Given the description of an element on the screen output the (x, y) to click on. 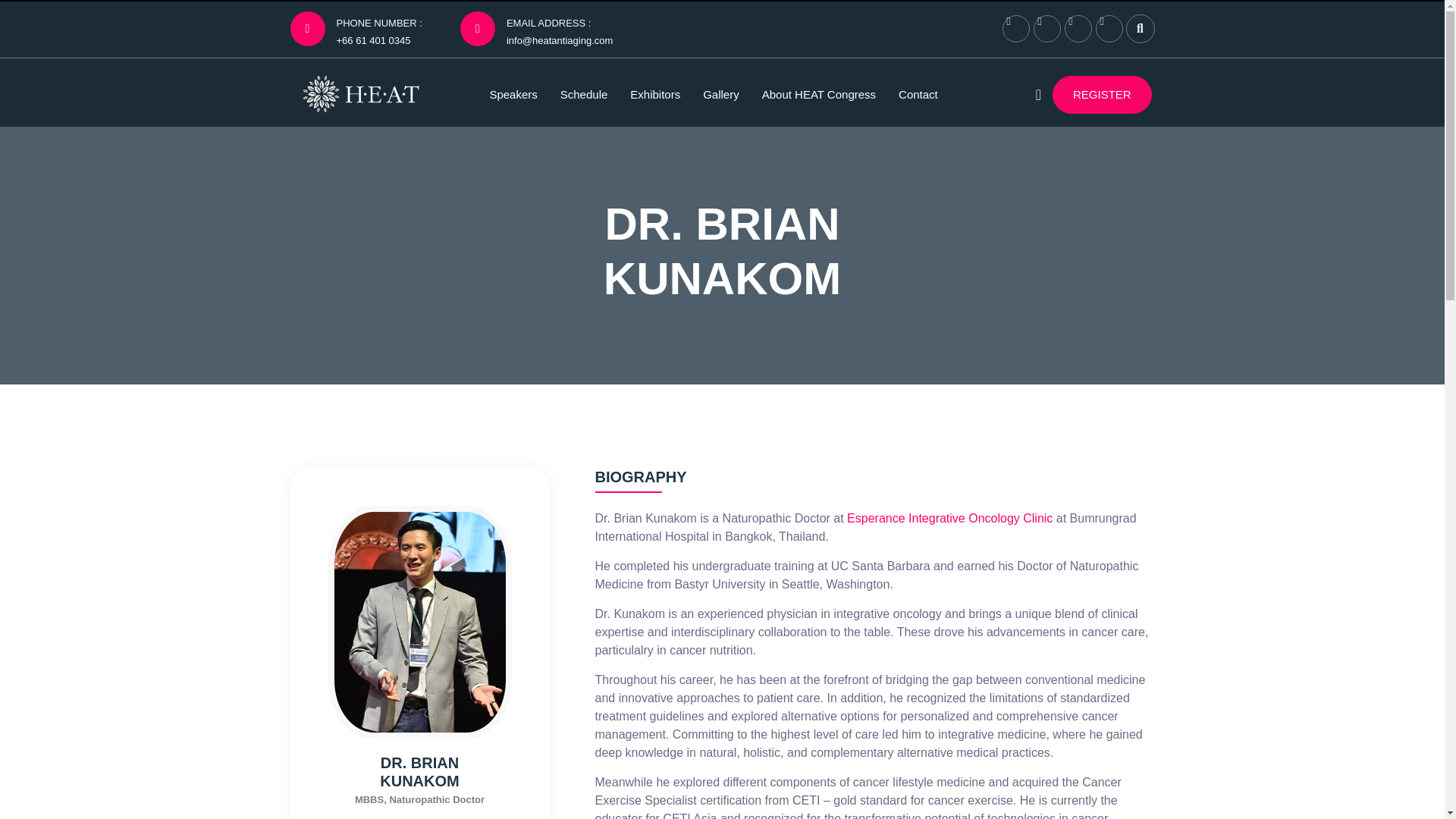
About HEAT Congress (818, 94)
Esperance (876, 517)
Gallery (721, 94)
Contact (917, 94)
Exhibitors (654, 94)
REGISTER (1101, 94)
Speakers (513, 94)
Integrative Oncology Clinic (980, 517)
Schedule (584, 94)
